Given the description of an element on the screen output the (x, y) to click on. 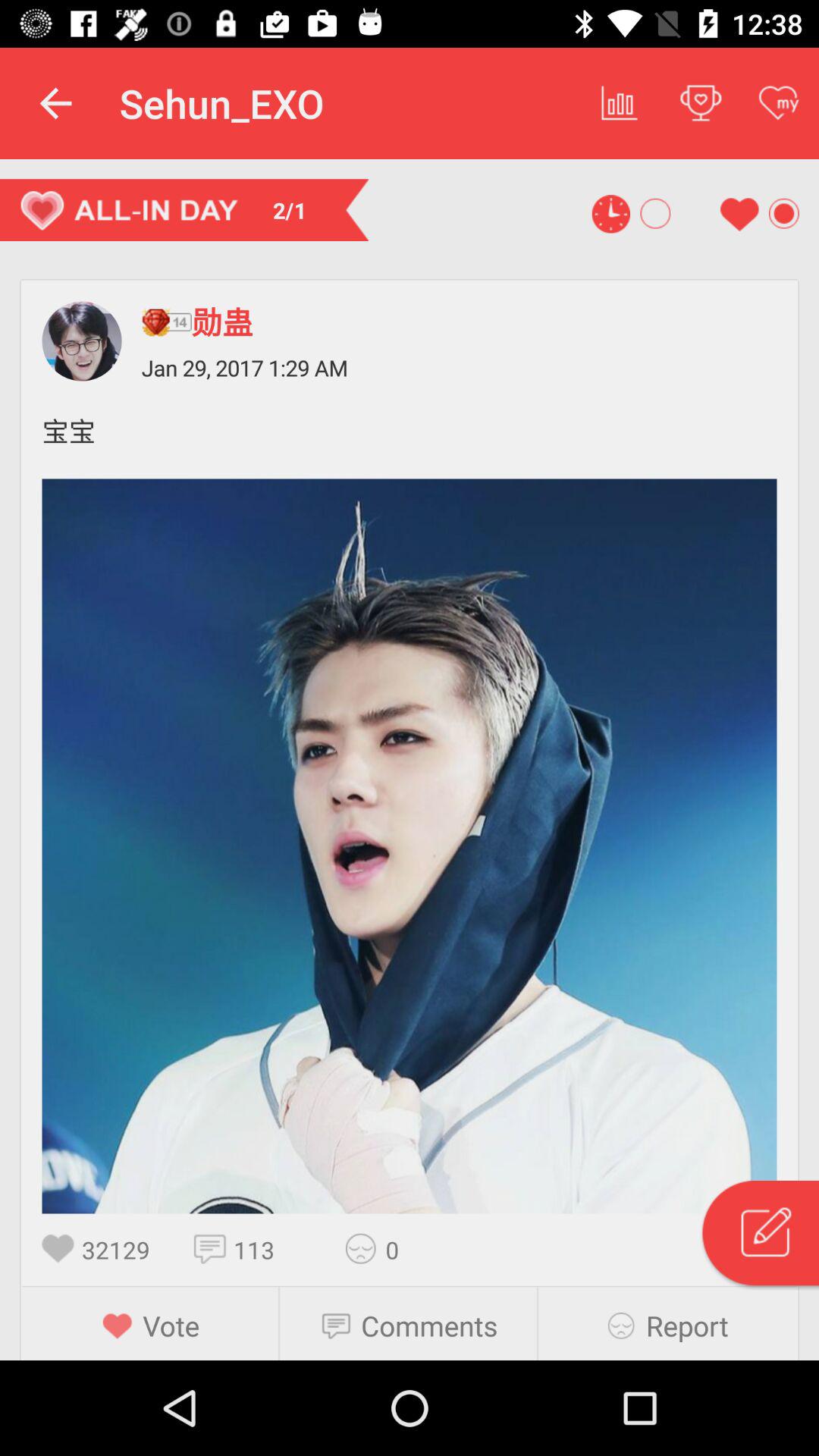
select the item above 2/1 (55, 103)
